Given the description of an element on the screen output the (x, y) to click on. 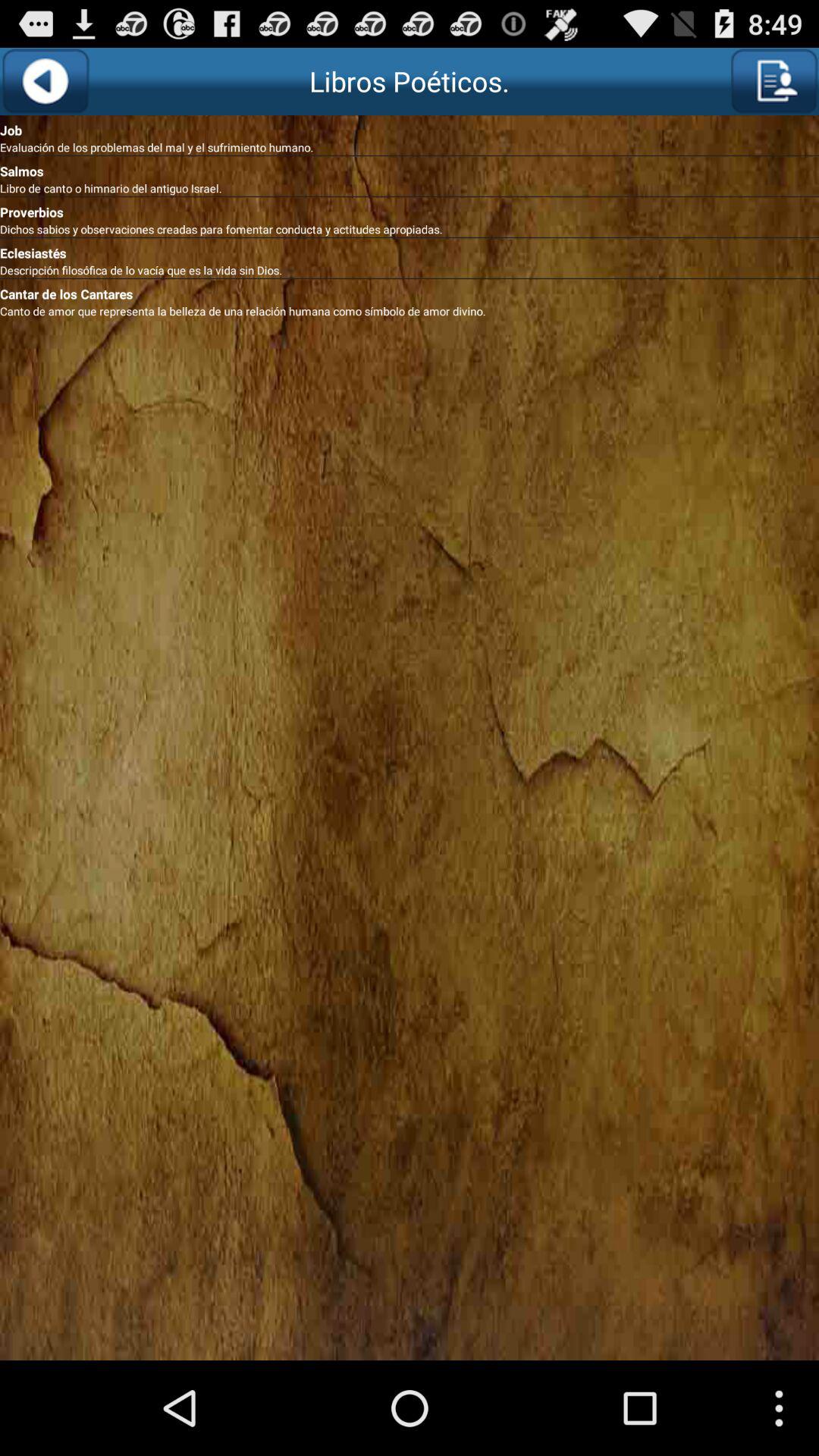
tap the salmos icon (409, 168)
